Given the description of an element on the screen output the (x, y) to click on. 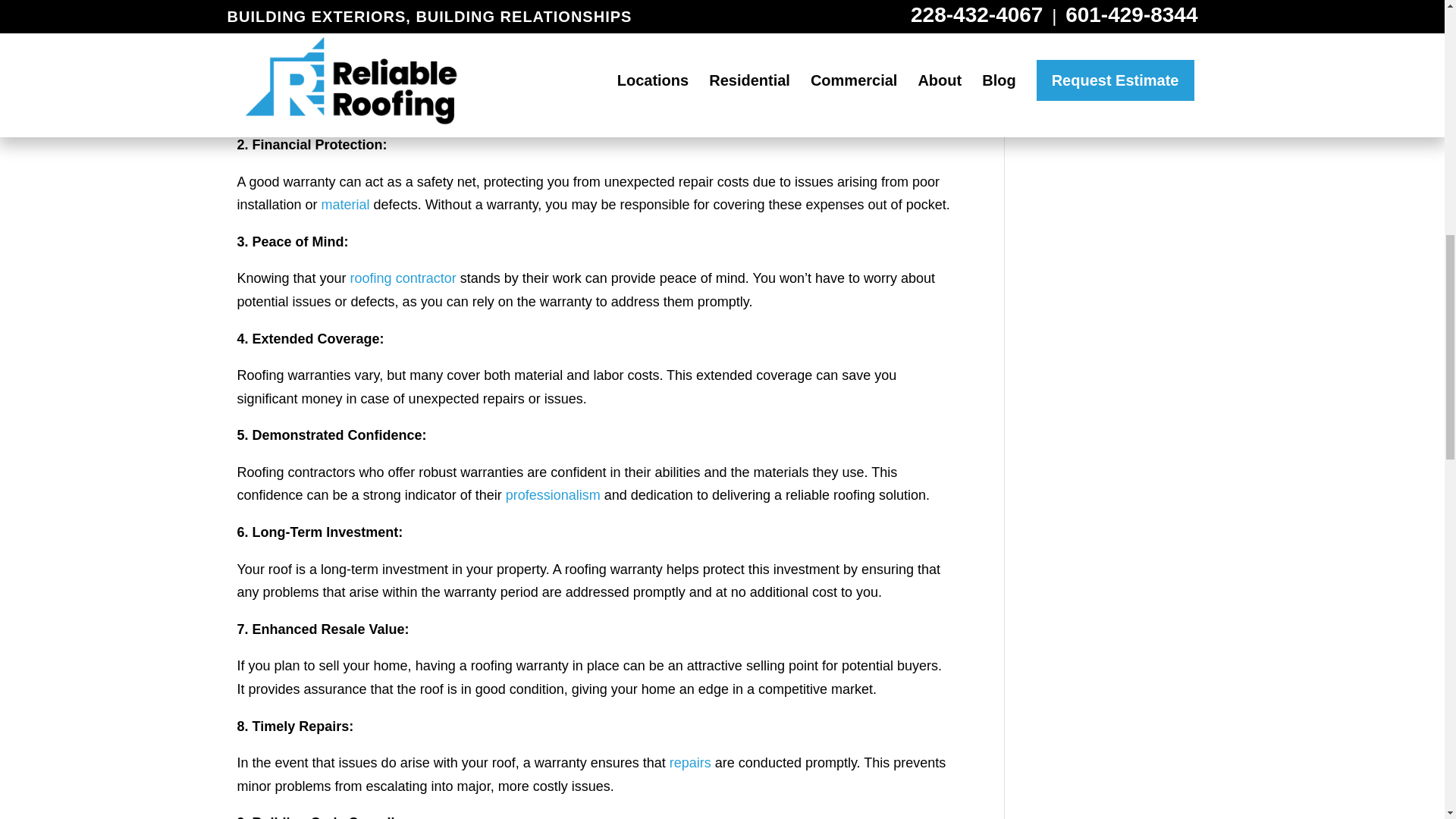
roofing contractor (403, 278)
repairs (690, 762)
material (345, 204)
professionalism (552, 494)
